Given the description of an element on the screen output the (x, y) to click on. 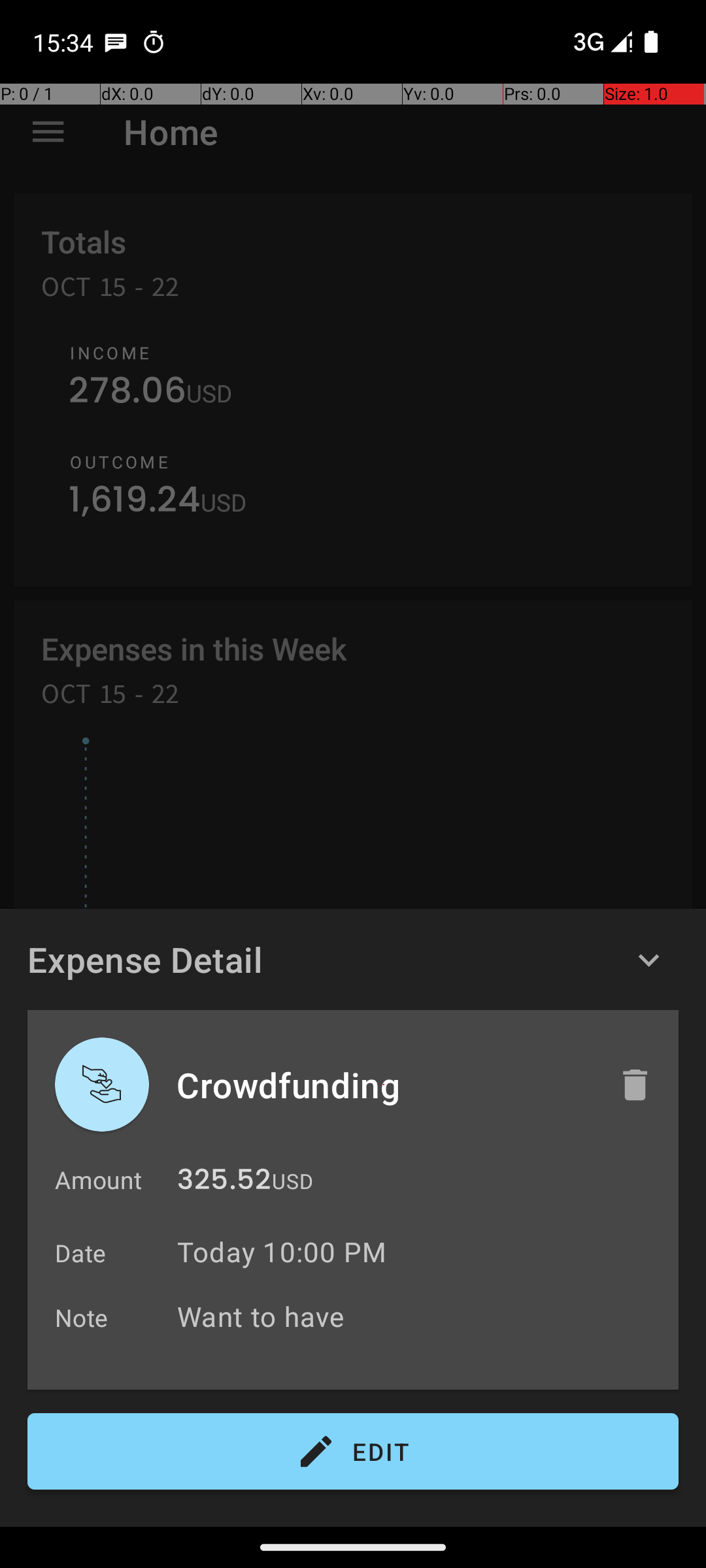
Crowdfunding Element type: android.widget.TextView (383, 1084)
325.52 Element type: android.widget.TextView (223, 1182)
